Given the description of an element on the screen output the (x, y) to click on. 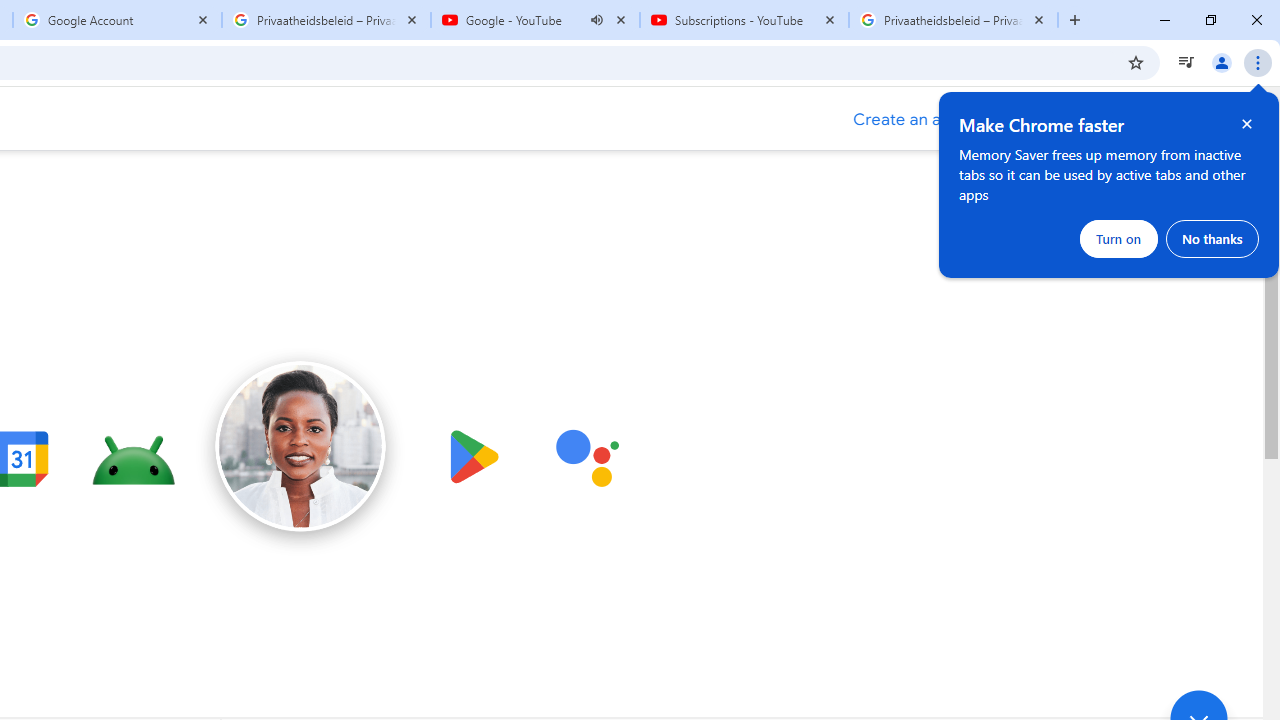
Close help bubble (1247, 124)
